Given the description of an element on the screen output the (x, y) to click on. 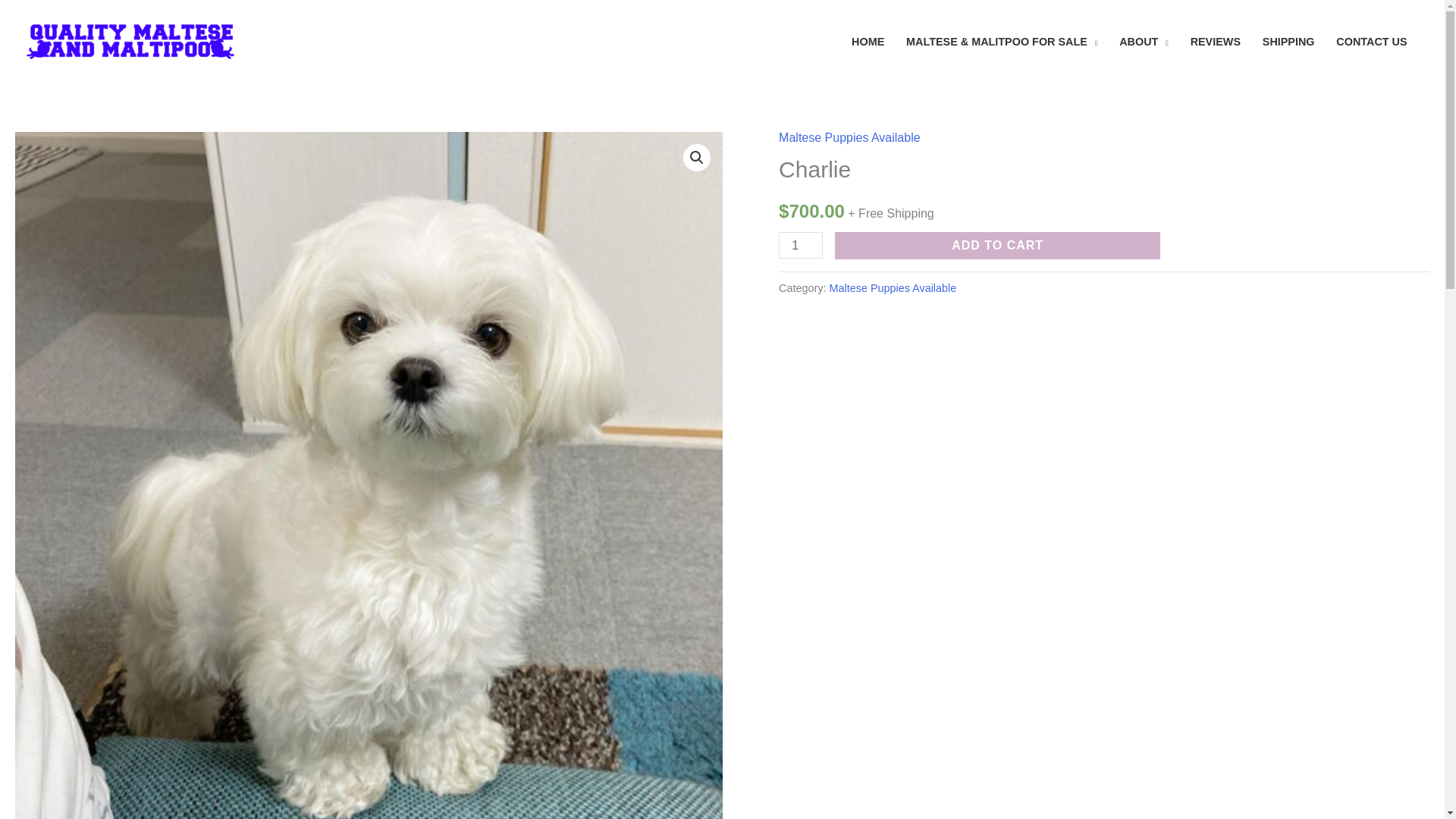
SHIPPING (1287, 41)
HOME (868, 41)
ADD TO CART (997, 245)
ABOUT (1143, 41)
Maltese Puppies Available (849, 137)
1 (800, 244)
CONTACT US (1371, 41)
Maltese Puppies Available (892, 287)
REVIEWS (1214, 41)
